Given the description of an element on the screen output the (x, y) to click on. 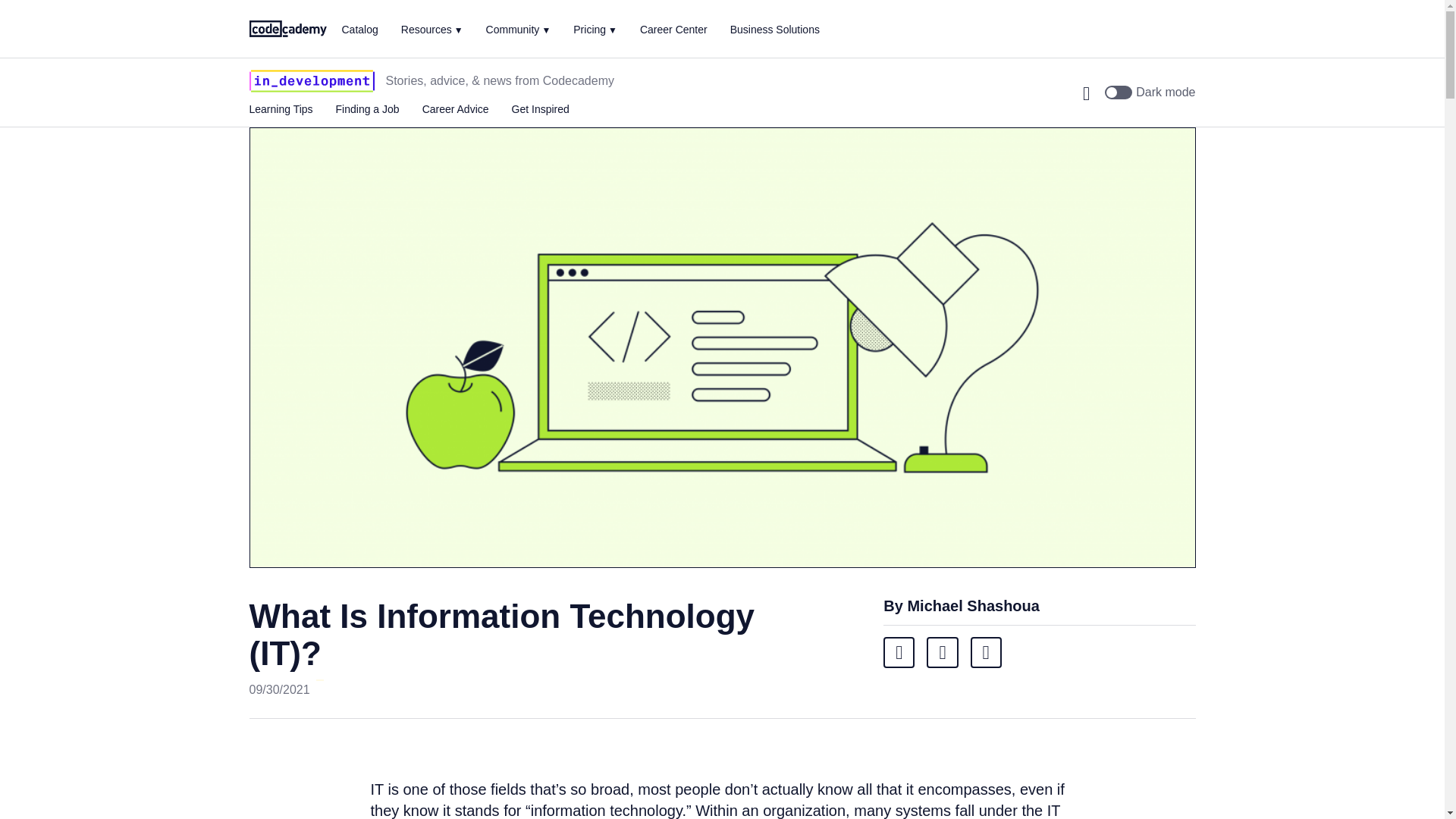
Finding a Job (367, 109)
Learning Tips (280, 109)
Resources (432, 28)
Business Solutions (774, 29)
Catalog (358, 29)
Pricing (595, 28)
Michael Shashoua (973, 605)
Community (518, 28)
Get Inspired (540, 109)
Career Center (673, 29)
Codecademy Blog (287, 27)
Career Advice (455, 109)
Codecademy Blog (311, 79)
